Given the description of an element on the screen output the (x, y) to click on. 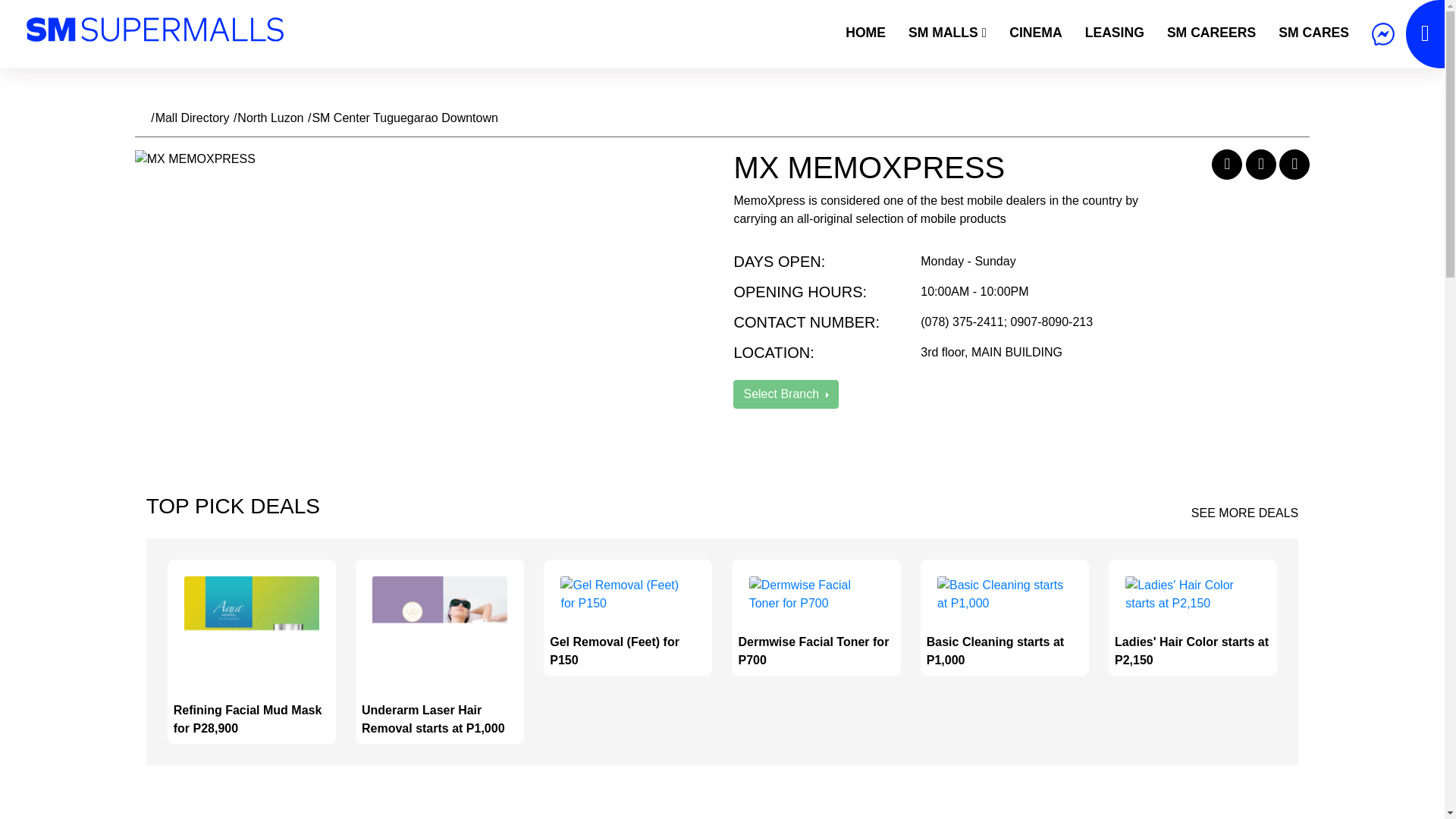
SM Center Tuguegarao Downtown (404, 117)
SM CAREERS (1211, 32)
SM CARES (1312, 32)
LEASING (1115, 32)
North Luzon (269, 117)
CINEMA (1035, 32)
Mall Directory (192, 117)
Select Branch (785, 394)
SM MALLS (946, 32)
HOME (865, 32)
